Given the description of an element on the screen output the (x, y) to click on. 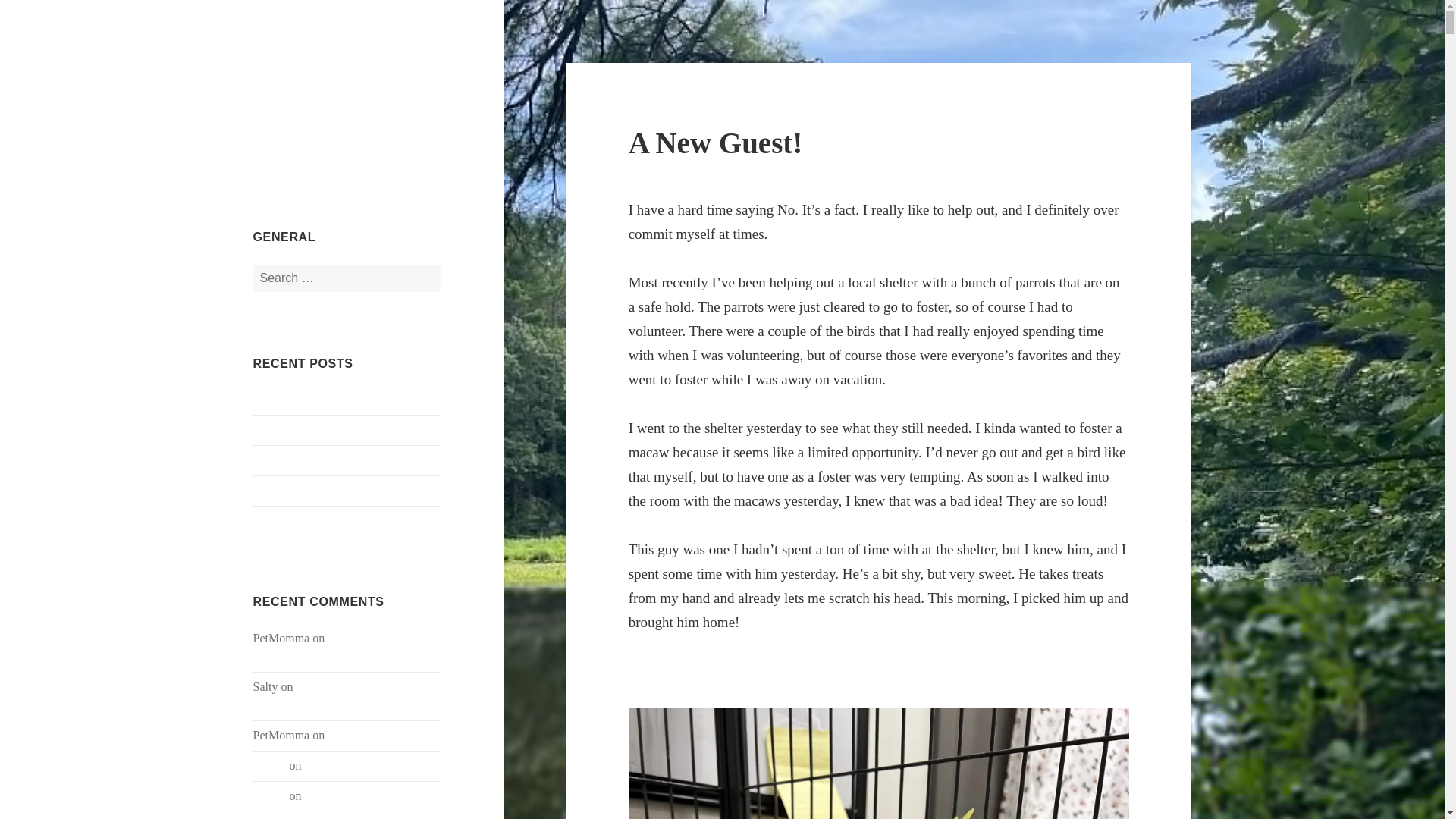
Way too long! (361, 735)
Foster Update (287, 399)
Way too long! (338, 795)
Sam K (269, 795)
Way too long! (338, 765)
Volunteering Update (303, 490)
Sam K (269, 765)
When to add a new puppy? (319, 460)
Pet Momma (310, 74)
Happy Hatch Day Hector D. Byrd! (344, 695)
Happy Hatch Day Hector D. Byrd! (333, 646)
